Given the description of an element on the screen output the (x, y) to click on. 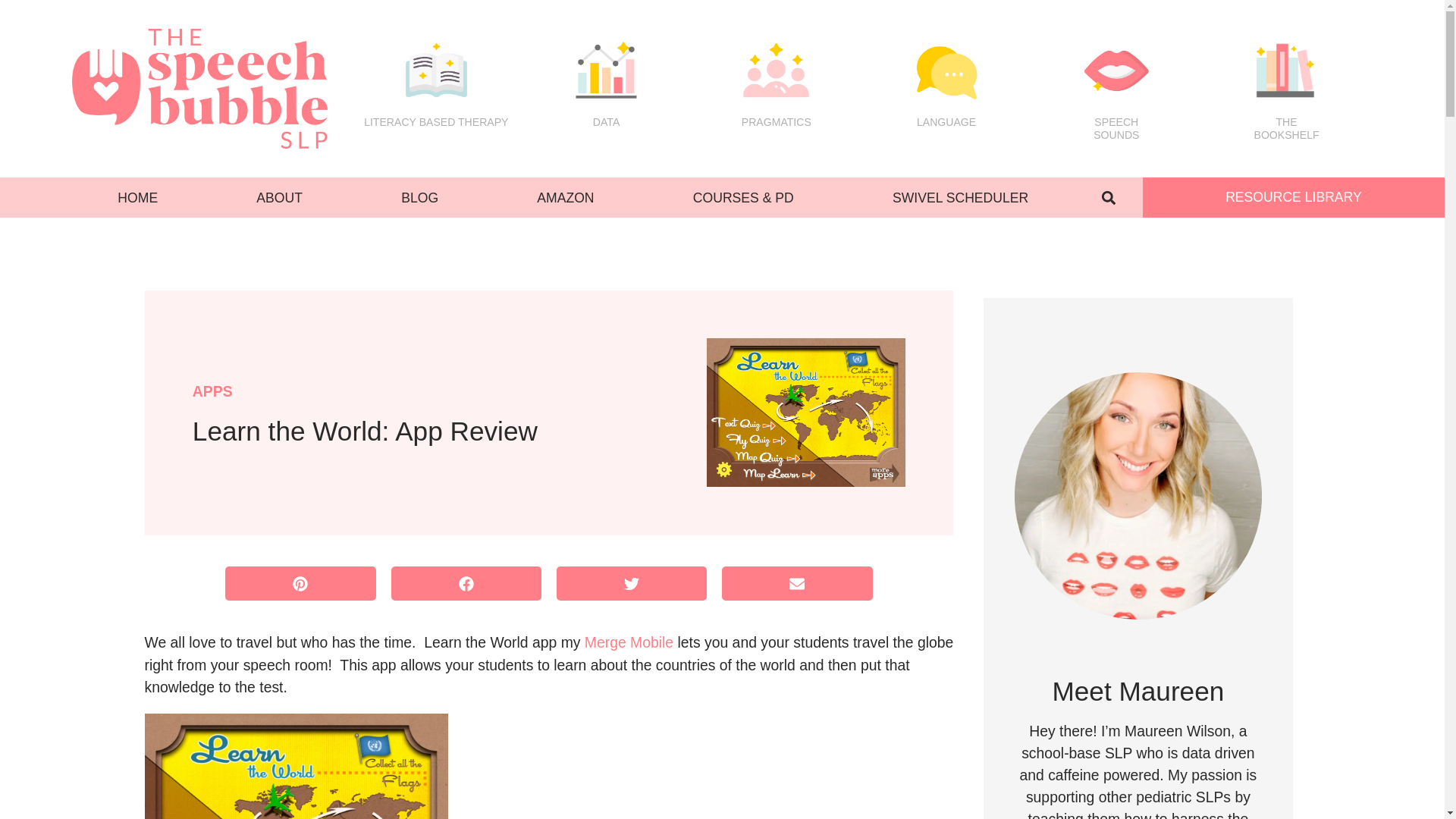
PRAGMATICS (775, 121)
ABOUT (279, 197)
HOME (1286, 128)
SWIVEL SCHEDULER (137, 197)
LANGUAGE (960, 197)
BLOG (946, 121)
AMAZON (1115, 128)
LITERACY BASED THERAPY (419, 197)
DATA (565, 197)
